Given the description of an element on the screen output the (x, y) to click on. 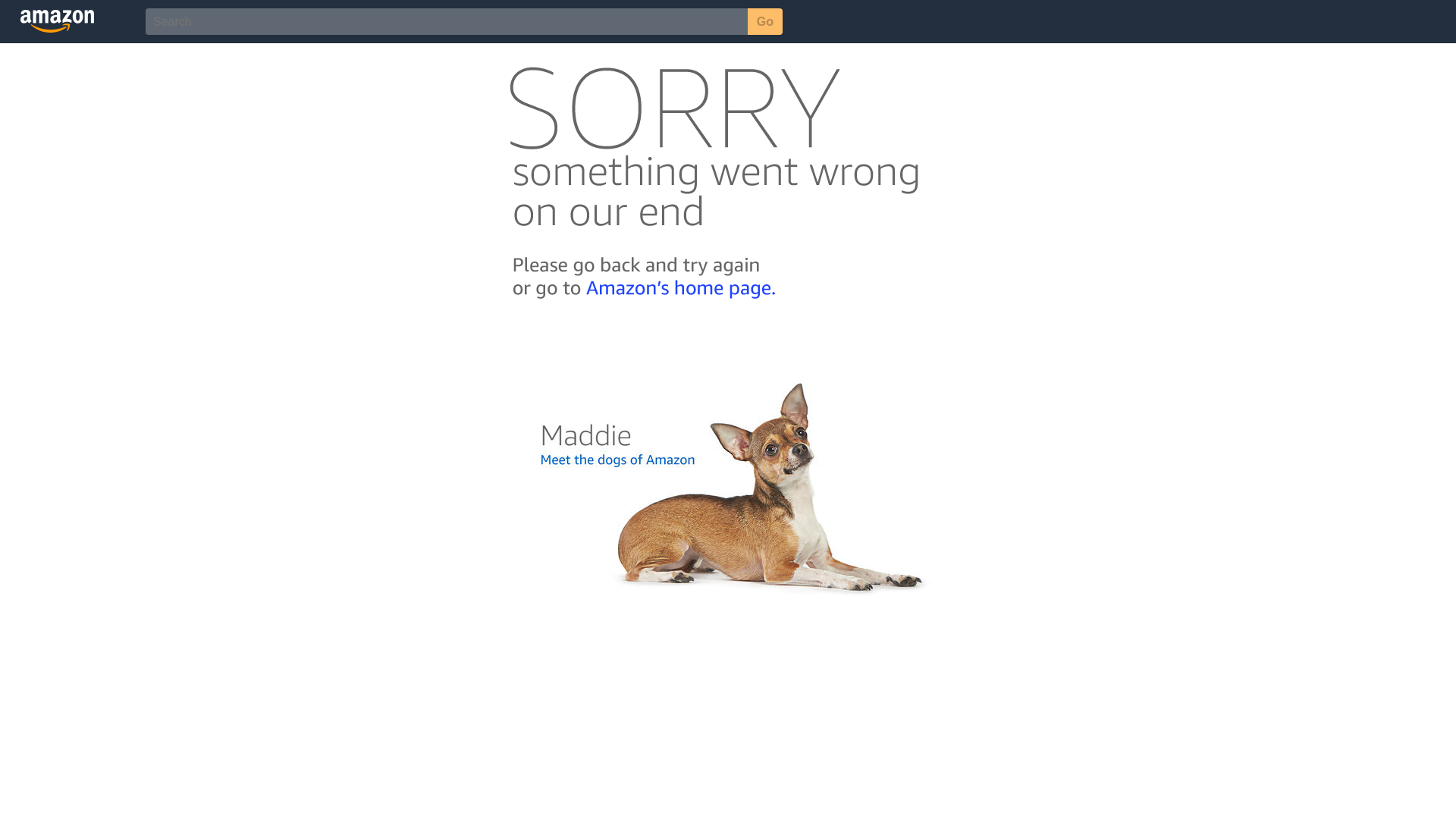
Go (765, 21)
Go (765, 21)
